Given the description of an element on the screen output the (x, y) to click on. 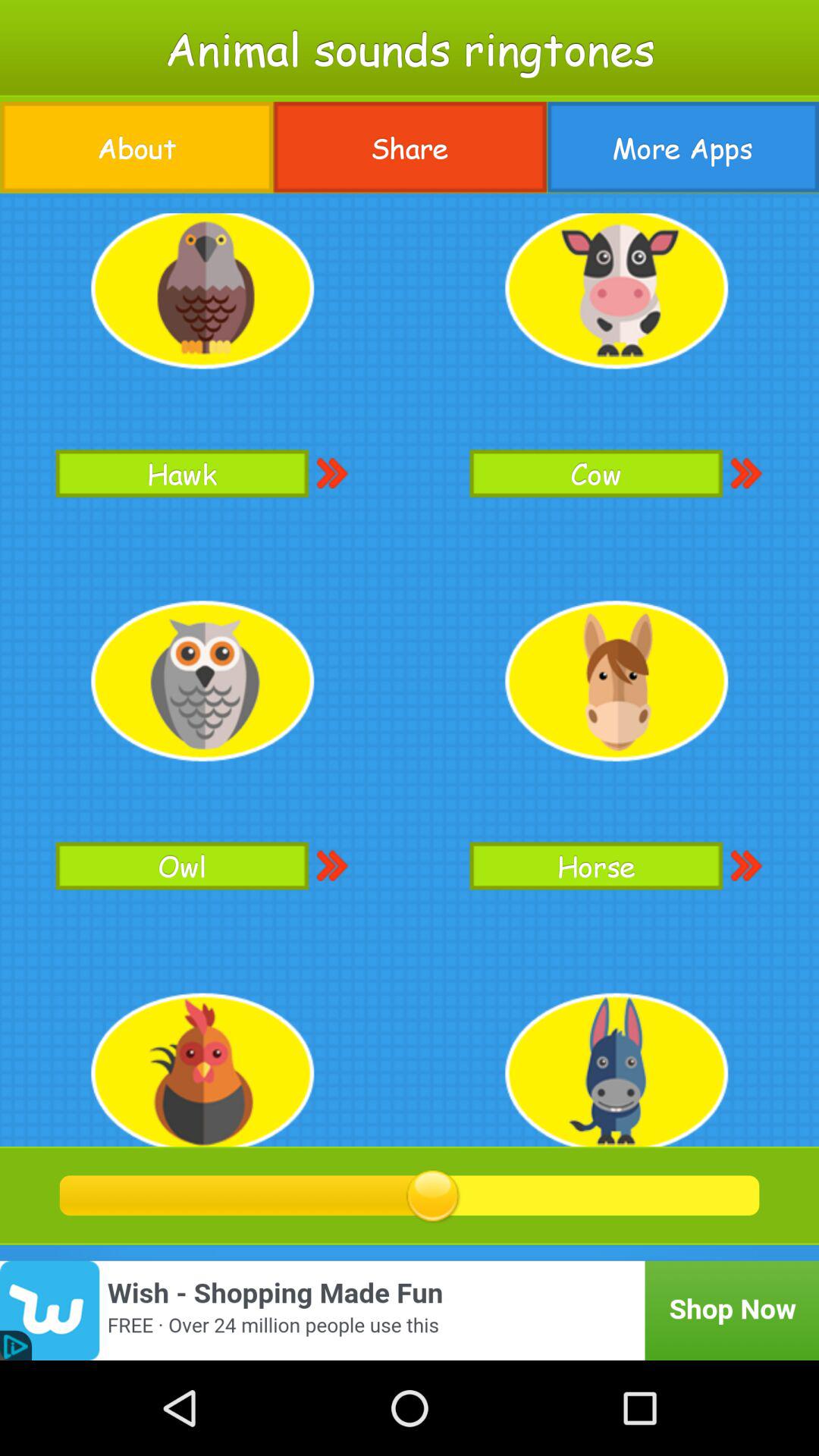
scroll to owl (181, 865)
